Given the description of an element on the screen output the (x, y) to click on. 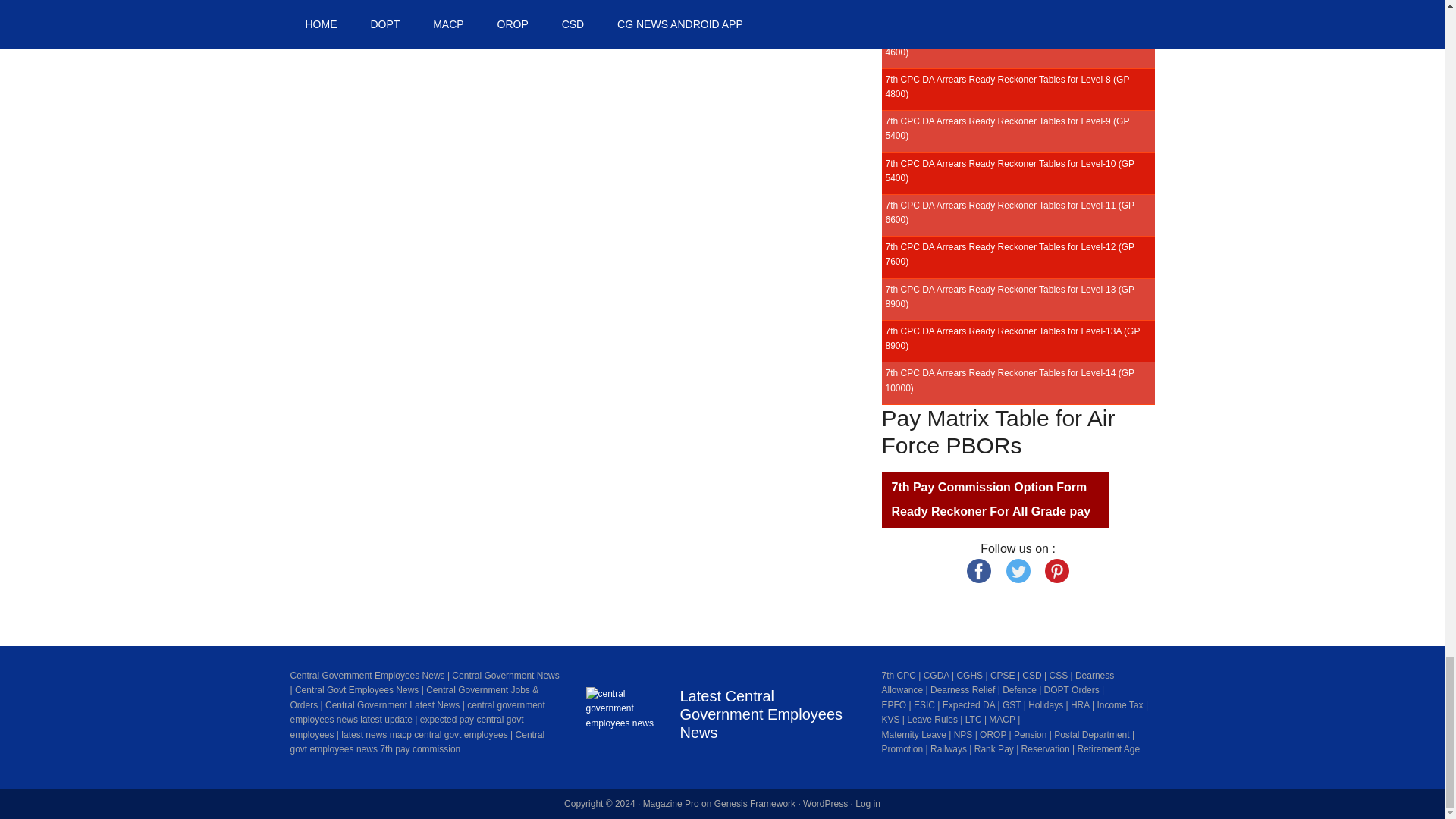
Central Government Employees News Android App (623, 724)
